Given the description of an element on the screen output the (x, y) to click on. 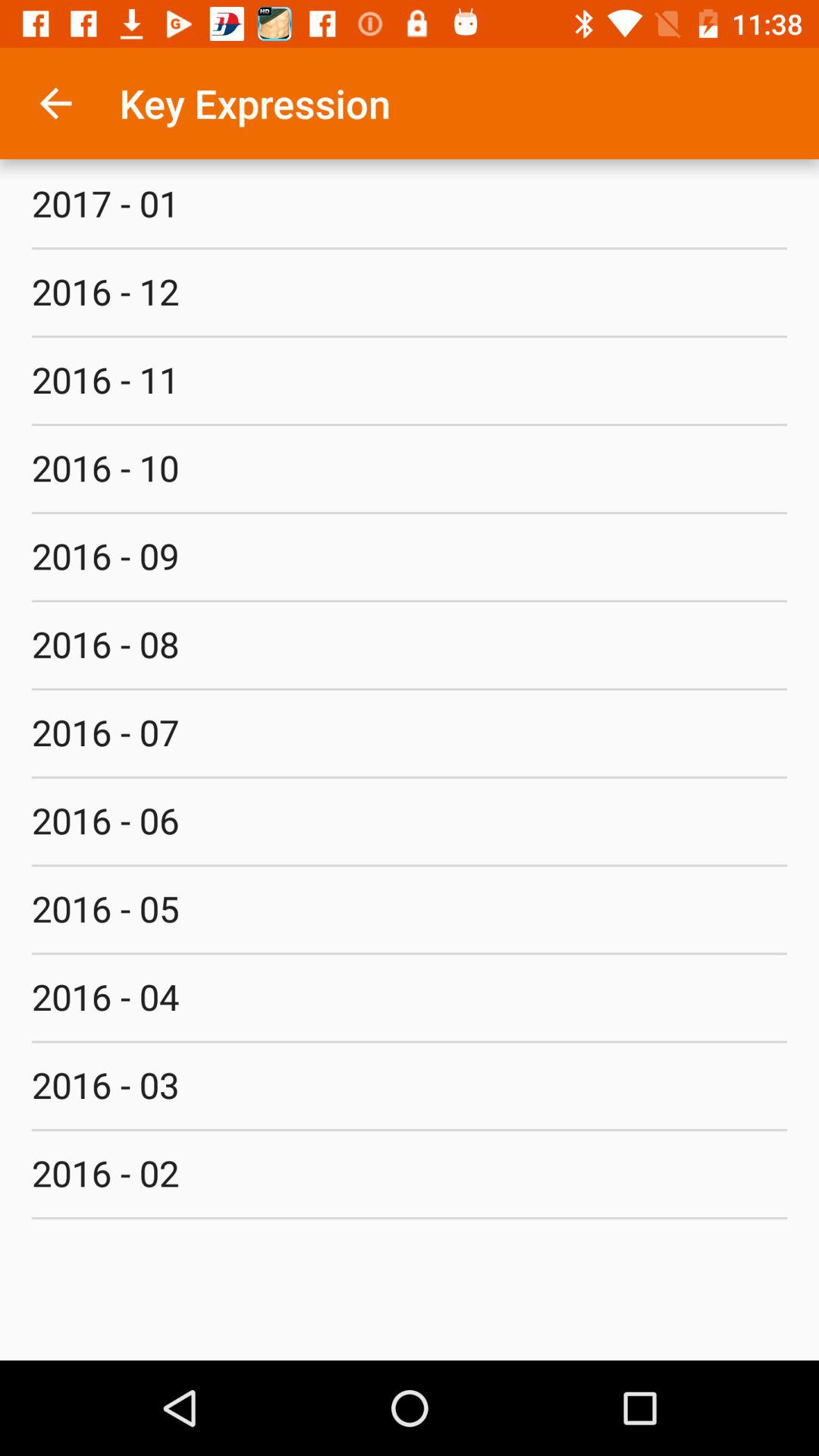
turn on app next to key expression icon (55, 103)
